Given the description of an element on the screen output the (x, y) to click on. 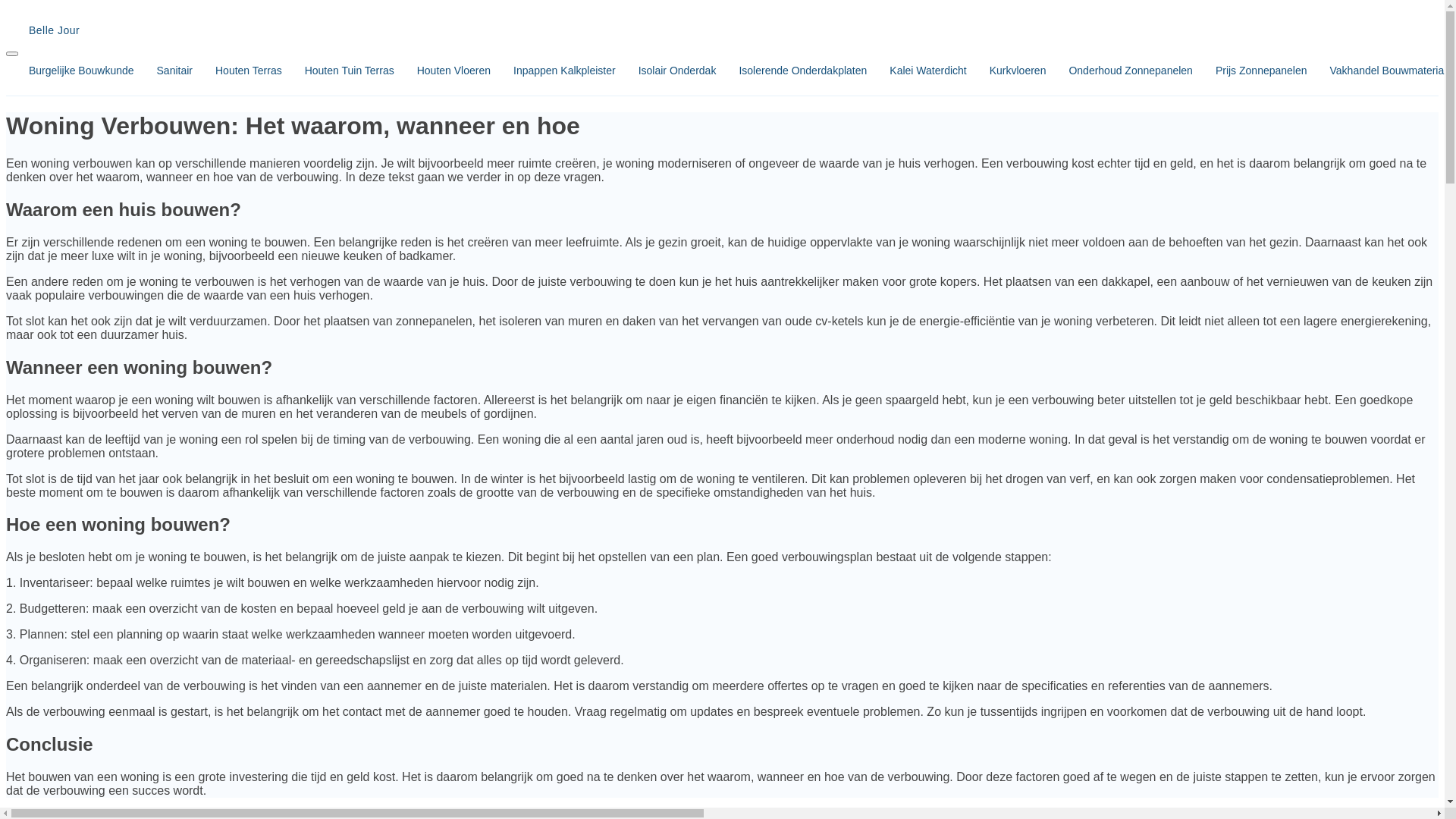
Isolair Onderdak Element type: text (665, 70)
Isolerende Onderdakplaten Element type: text (790, 70)
Houten Tuin Terras Element type: text (338, 70)
Houten Vloeren Element type: text (442, 70)
Prijs Zonnepanelen Element type: text (1249, 70)
Belle Jour Element type: text (722, 30)
Houten Terras Element type: text (237, 70)
Burgelijke Bouwkunde Element type: text (70, 70)
Kurkvloeren Element type: text (1006, 70)
Sanitair Element type: text (163, 70)
Inpappen Kalkpleister Element type: text (552, 70)
Onderhoud Zonnepanelen Element type: text (1118, 70)
Kalei Waterdicht Element type: text (916, 70)
